Given the description of an element on the screen output the (x, y) to click on. 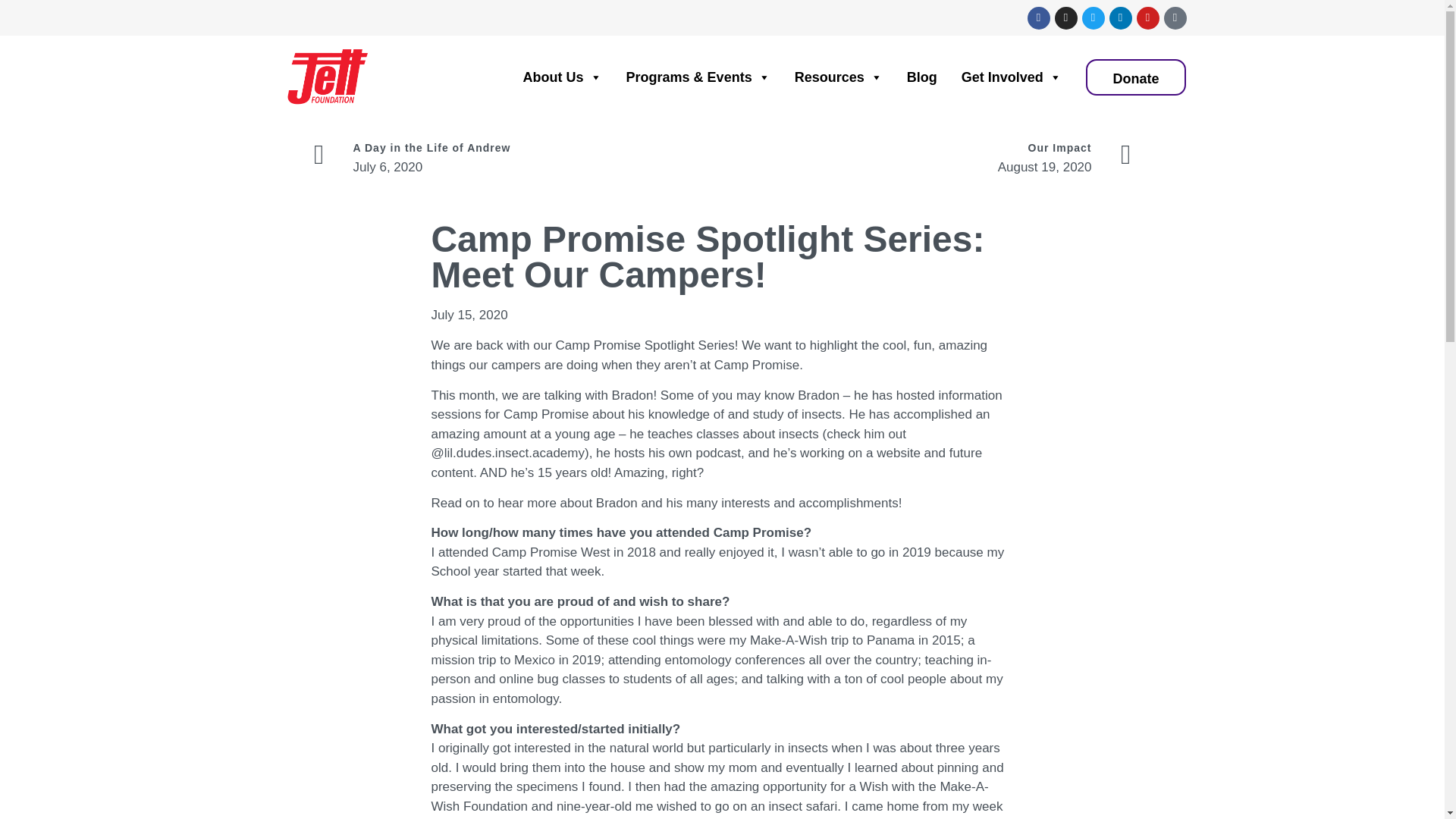
Resources (826, 76)
About Us (550, 76)
